Given the description of an element on the screen output the (x, y) to click on. 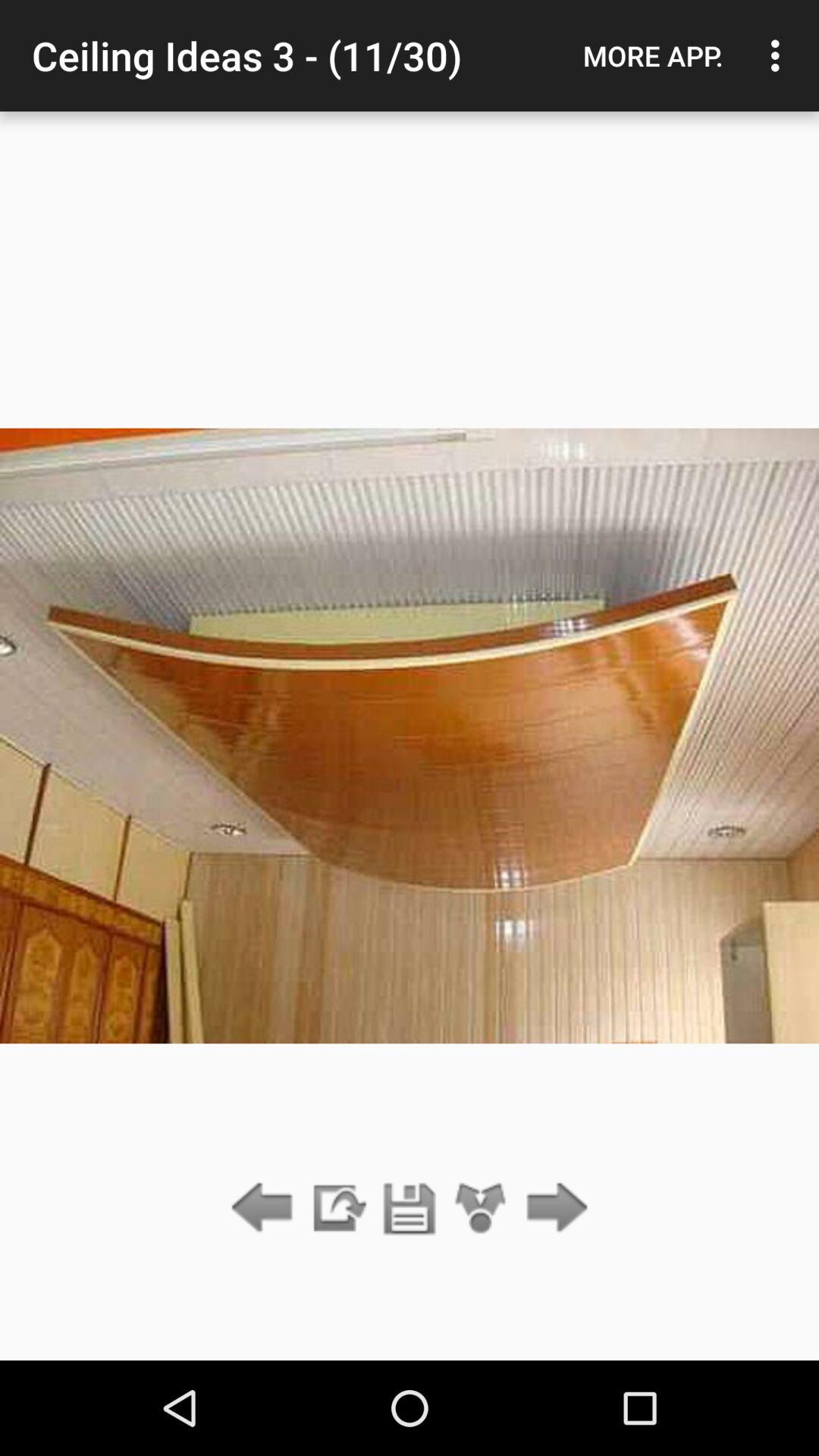
turn on the icon next to the more app. icon (779, 55)
